Given the description of an element on the screen output the (x, y) to click on. 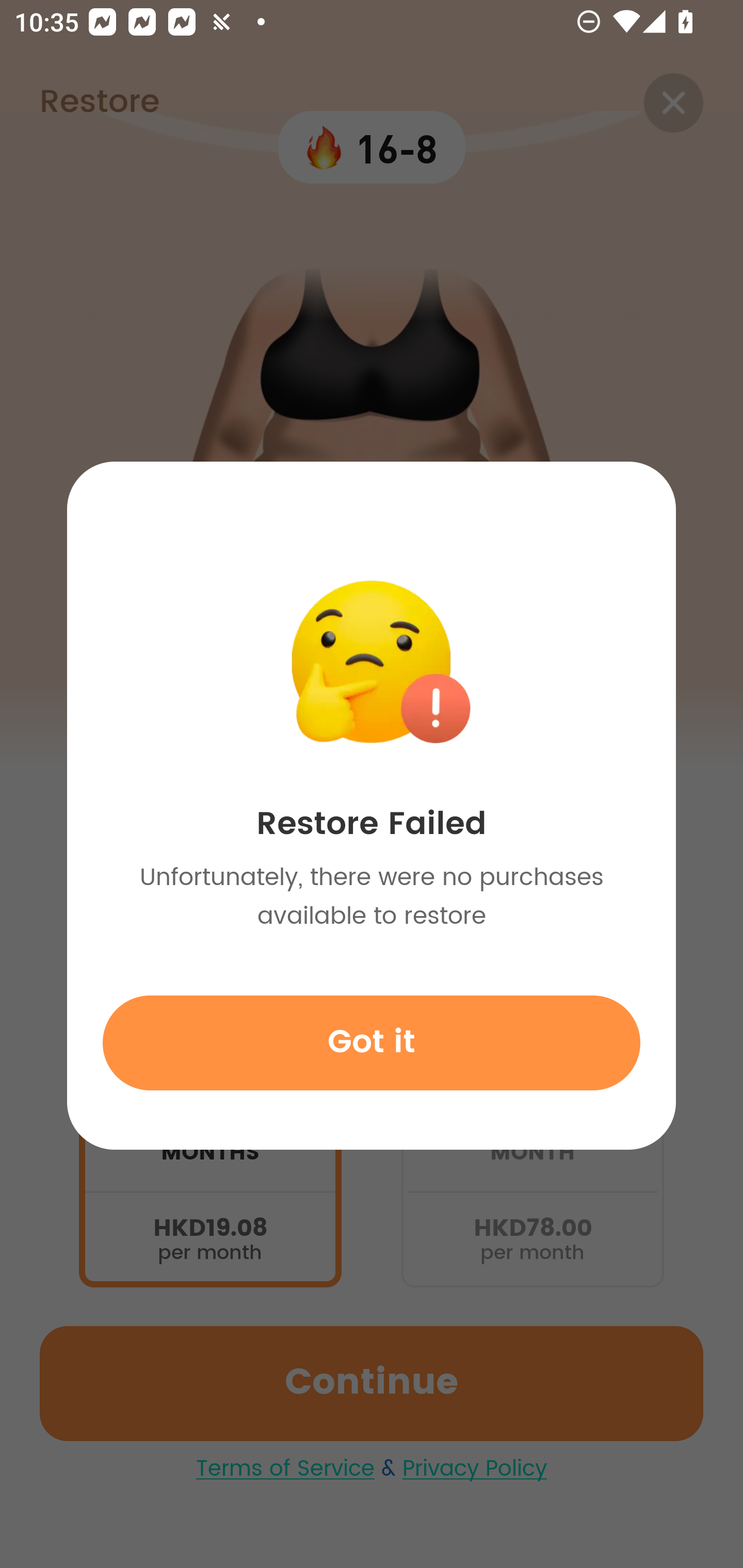
Got it (371, 1042)
